Given the description of an element on the screen output the (x, y) to click on. 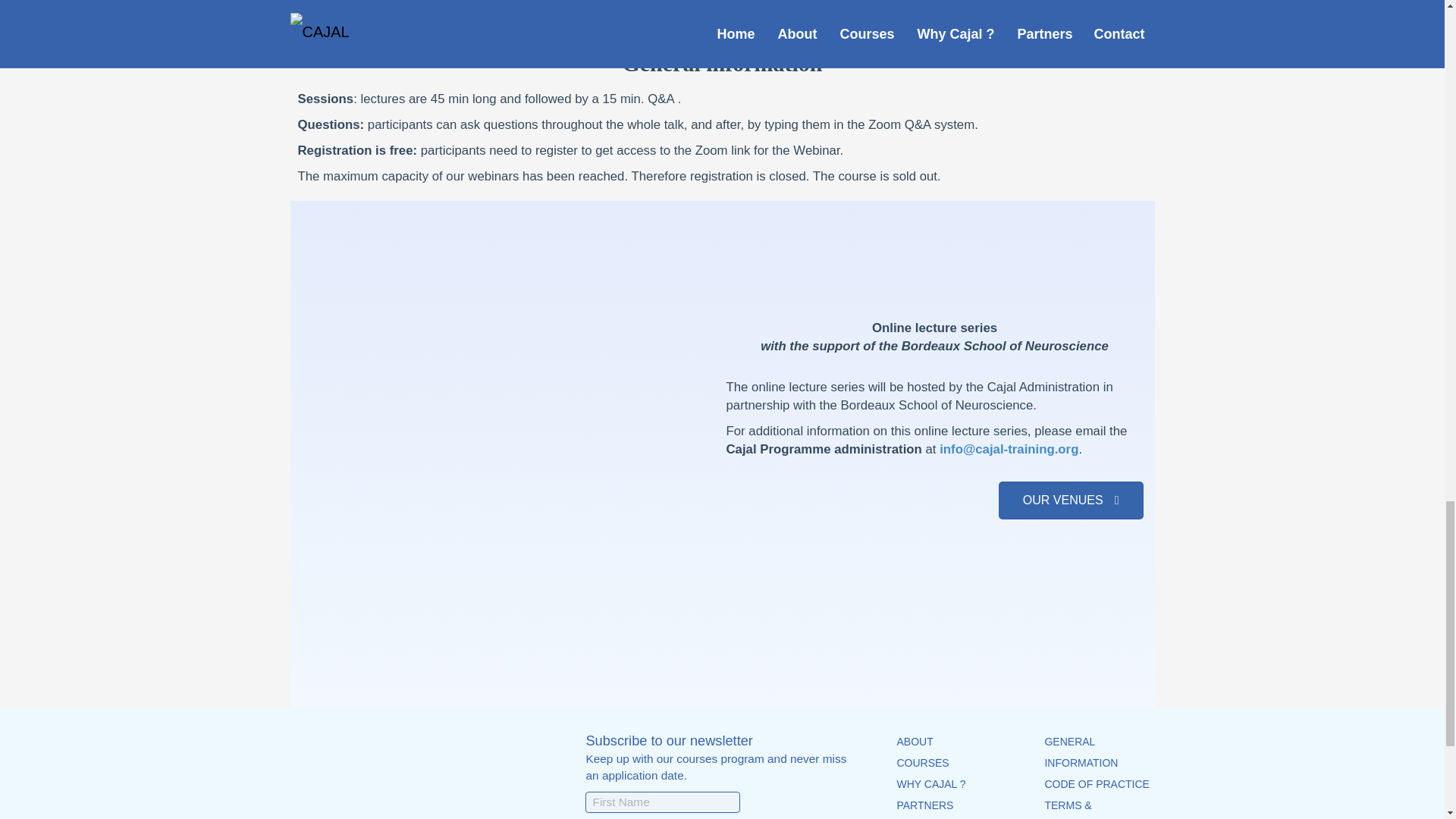
CODE OF PRACTICE (1095, 784)
OUR VENUES (1070, 500)
COURSES (922, 762)
PARTNERS (924, 805)
ABOUT (914, 741)
GENERAL INFORMATION (1080, 752)
WHY CAJAL ? (930, 784)
